Given the description of an element on the screen output the (x, y) to click on. 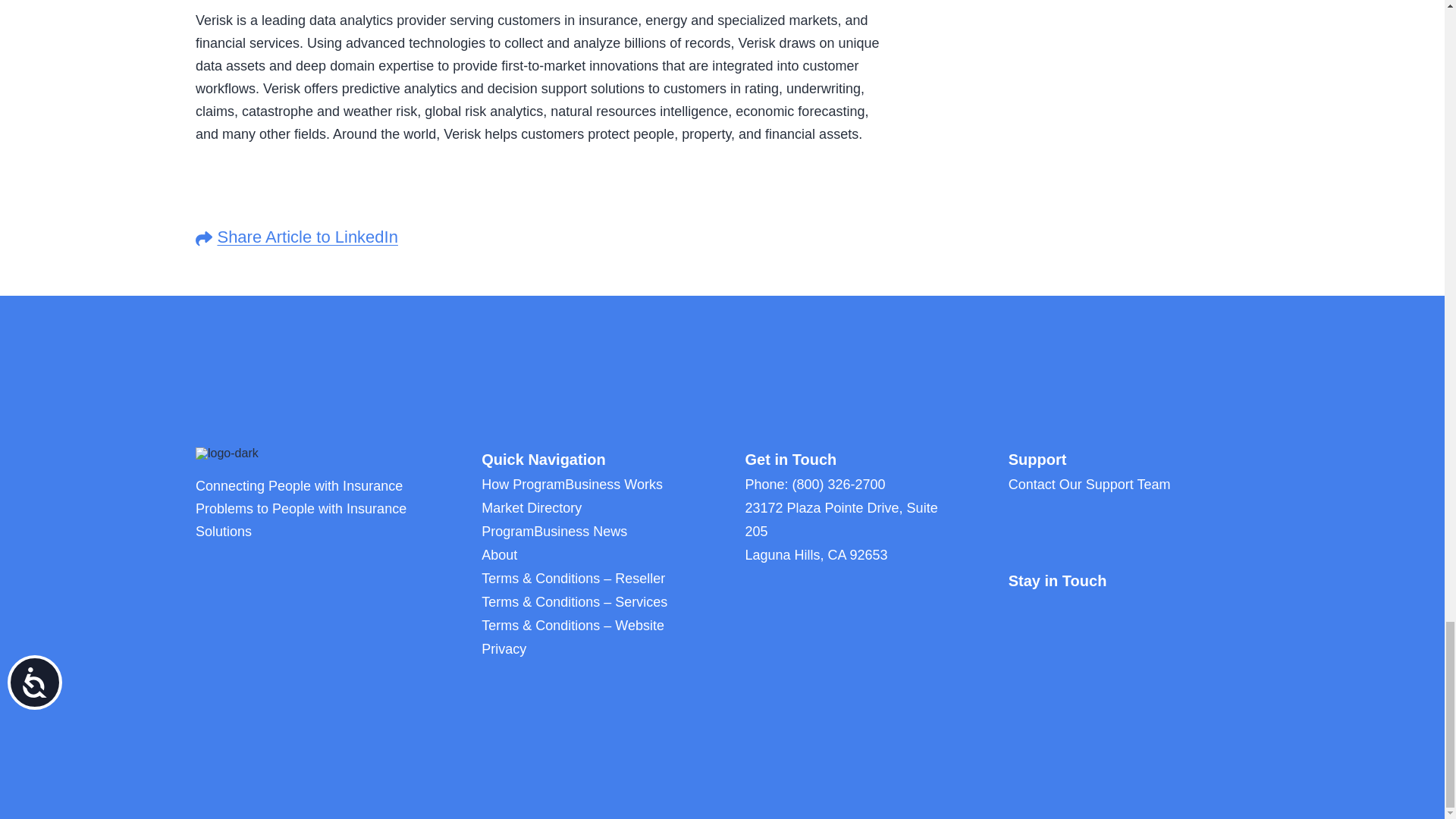
How ProgramBusiness Works (571, 484)
Share Article to LinkedIn (306, 236)
Quick Navigation (543, 459)
